Given the description of an element on the screen output the (x, y) to click on. 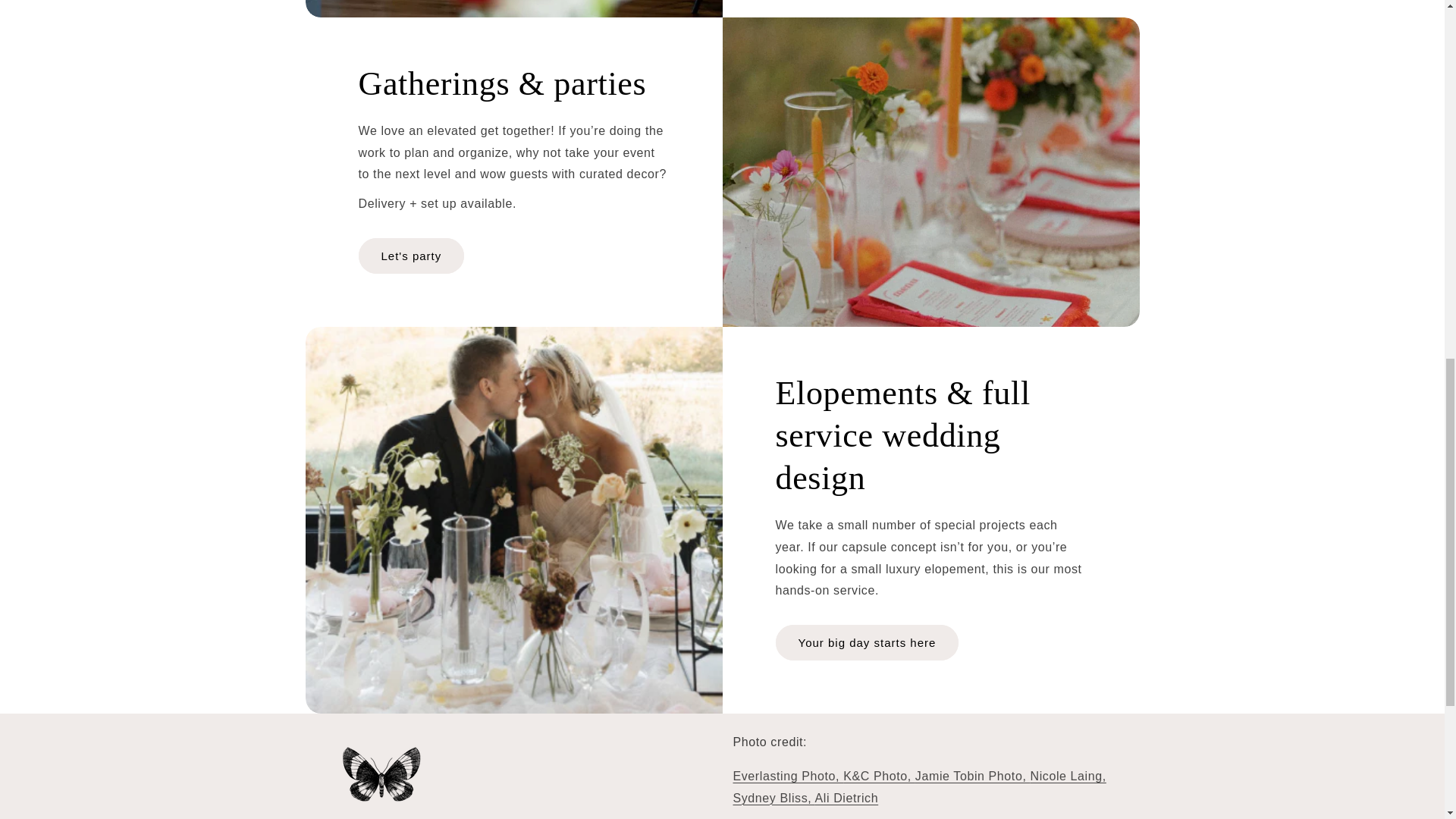
Ali Dietrich (847, 797)
Sydney Bliss, (772, 797)
Let's party (411, 255)
Jamie Tobin Photo, (972, 775)
Nicole Laing, (1067, 775)
Everlasting Photo, (787, 775)
Your big day starts here (866, 642)
